Given the description of an element on the screen output the (x, y) to click on. 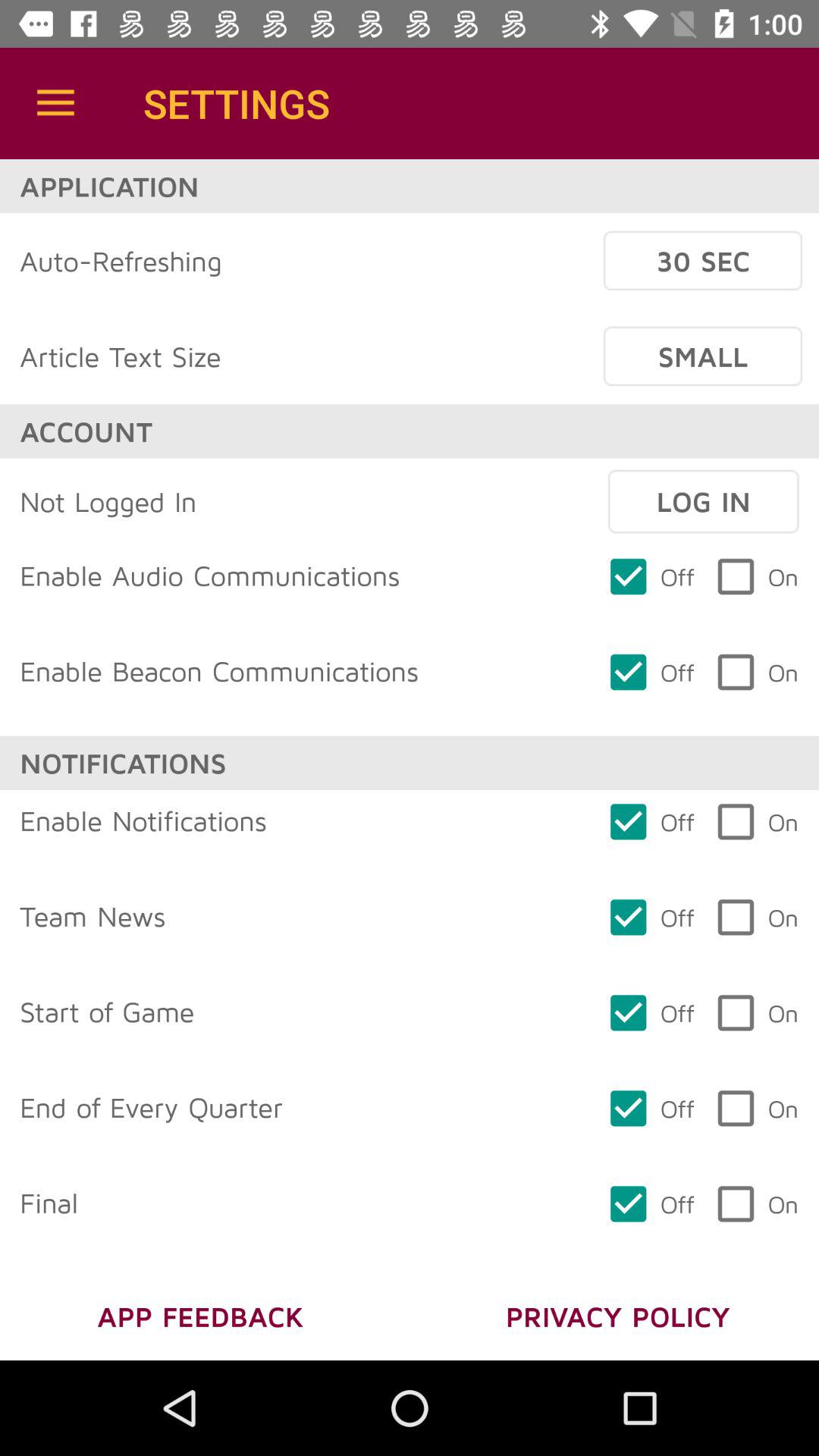
choose icon next to not logged in (703, 501)
